Given the description of an element on the screen output the (x, y) to click on. 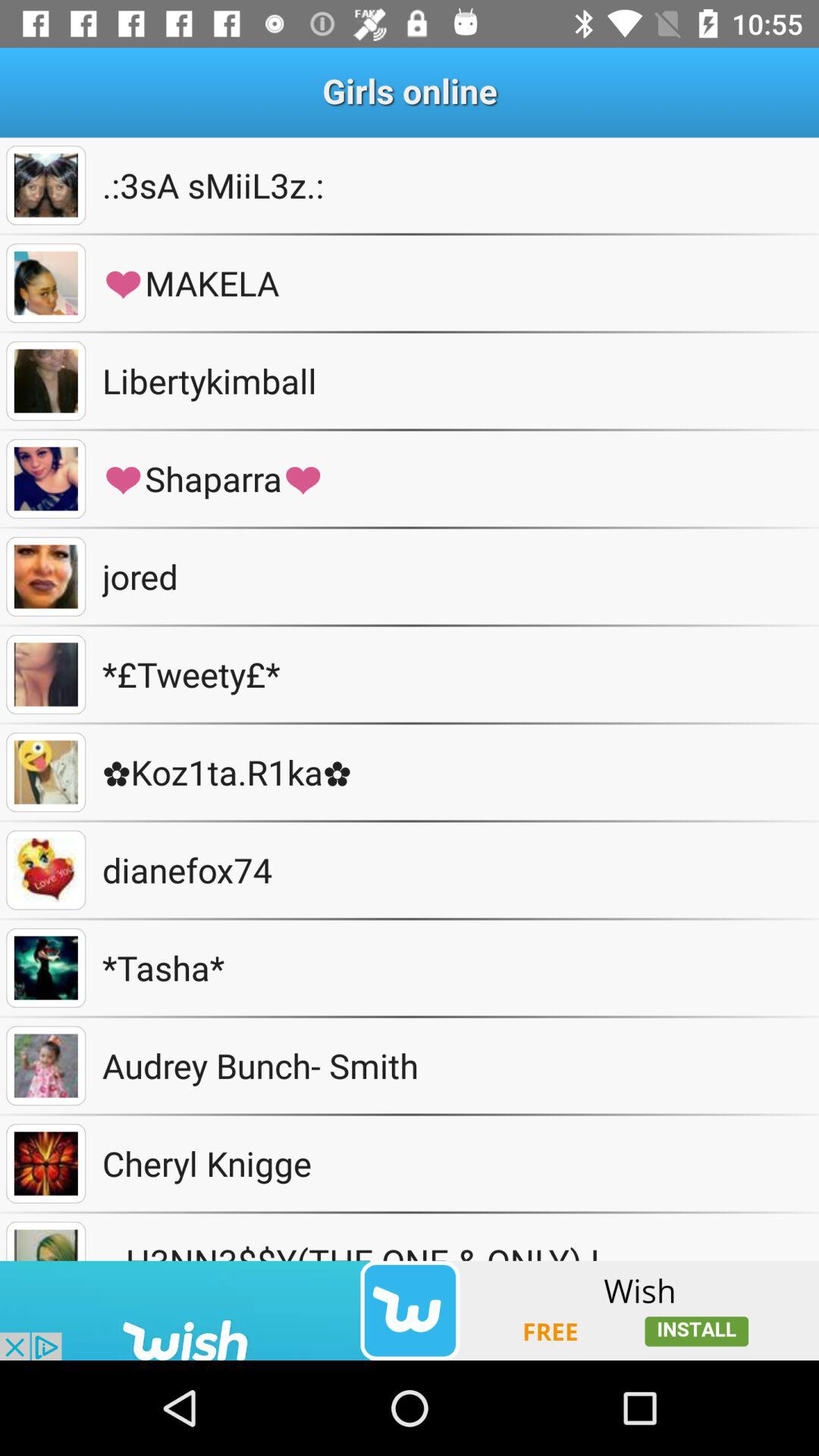
face book page (45, 185)
